Given the description of an element on the screen output the (x, y) to click on. 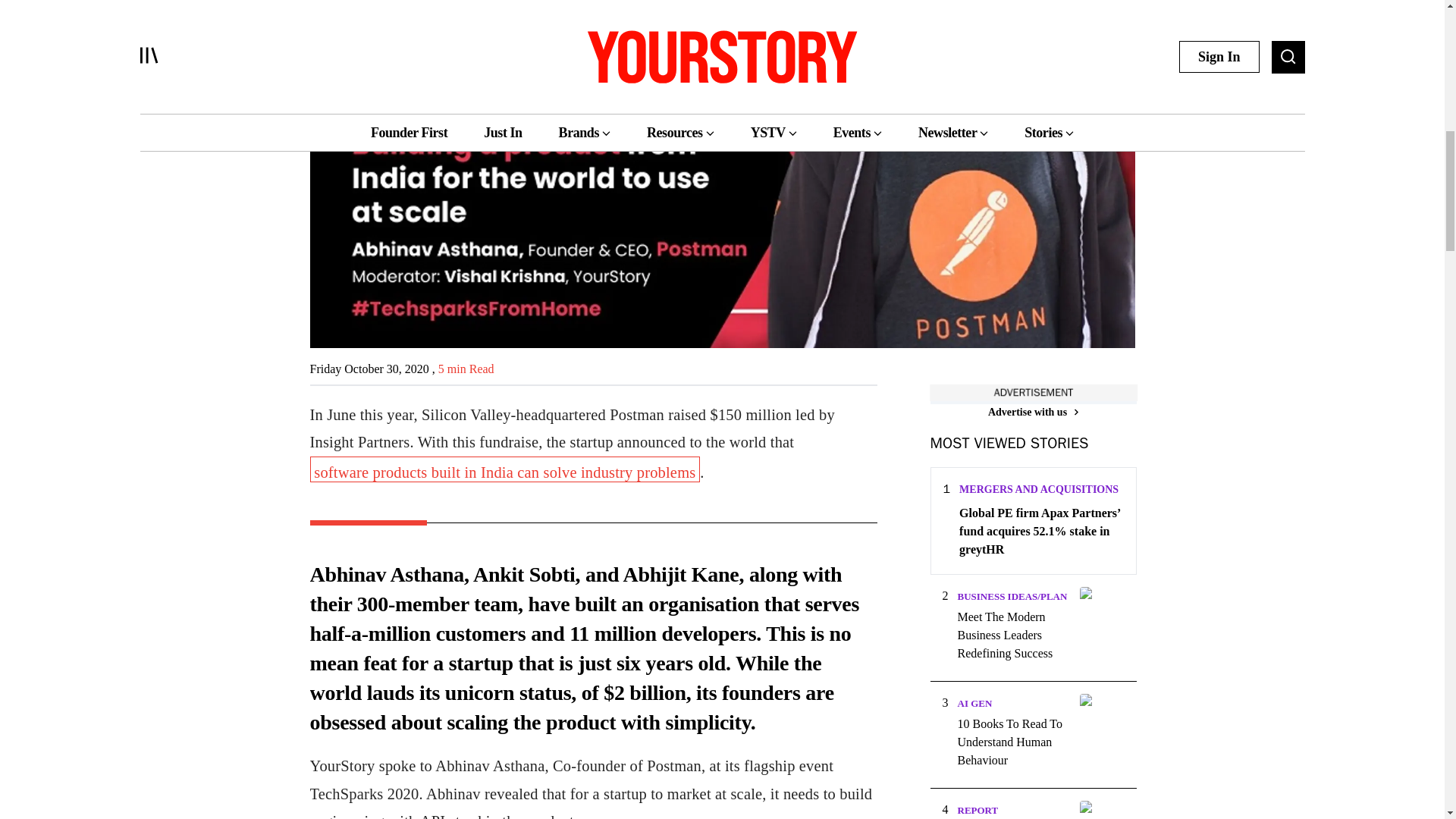
MERGERS AND ACQUISITIONS (1038, 489)
AI GEN (973, 703)
software products built in India can solve industry problems (504, 469)
Meet The Modern Business Leaders Redefining Success (1013, 635)
Advertise with us (1032, 412)
10 Books To Read To Understand Human Behaviour (1013, 741)
REPORT (976, 809)
